Given the description of an element on the screen output the (x, y) to click on. 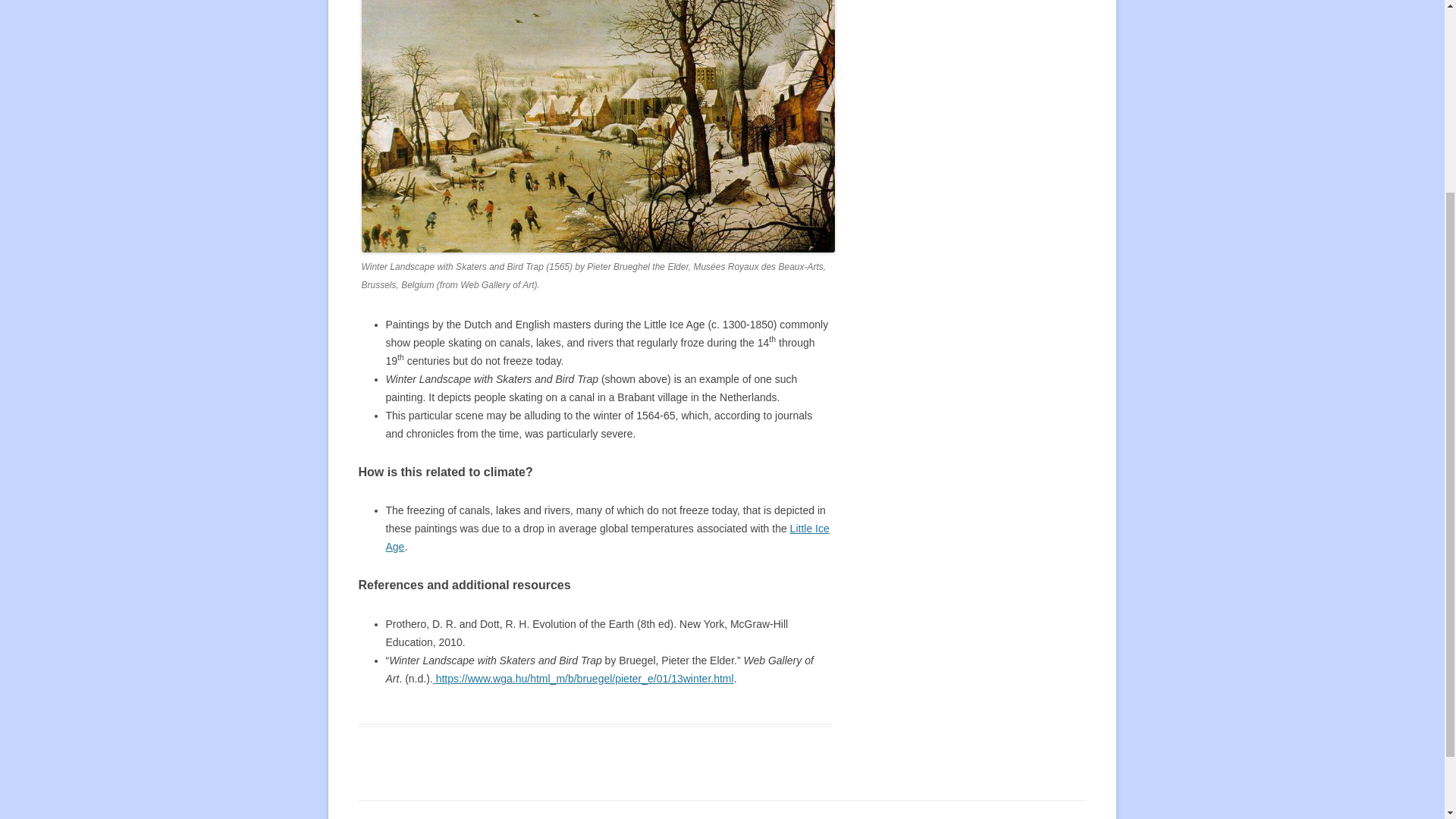
Little Ice Age (606, 537)
